Given the description of an element on the screen output the (x, y) to click on. 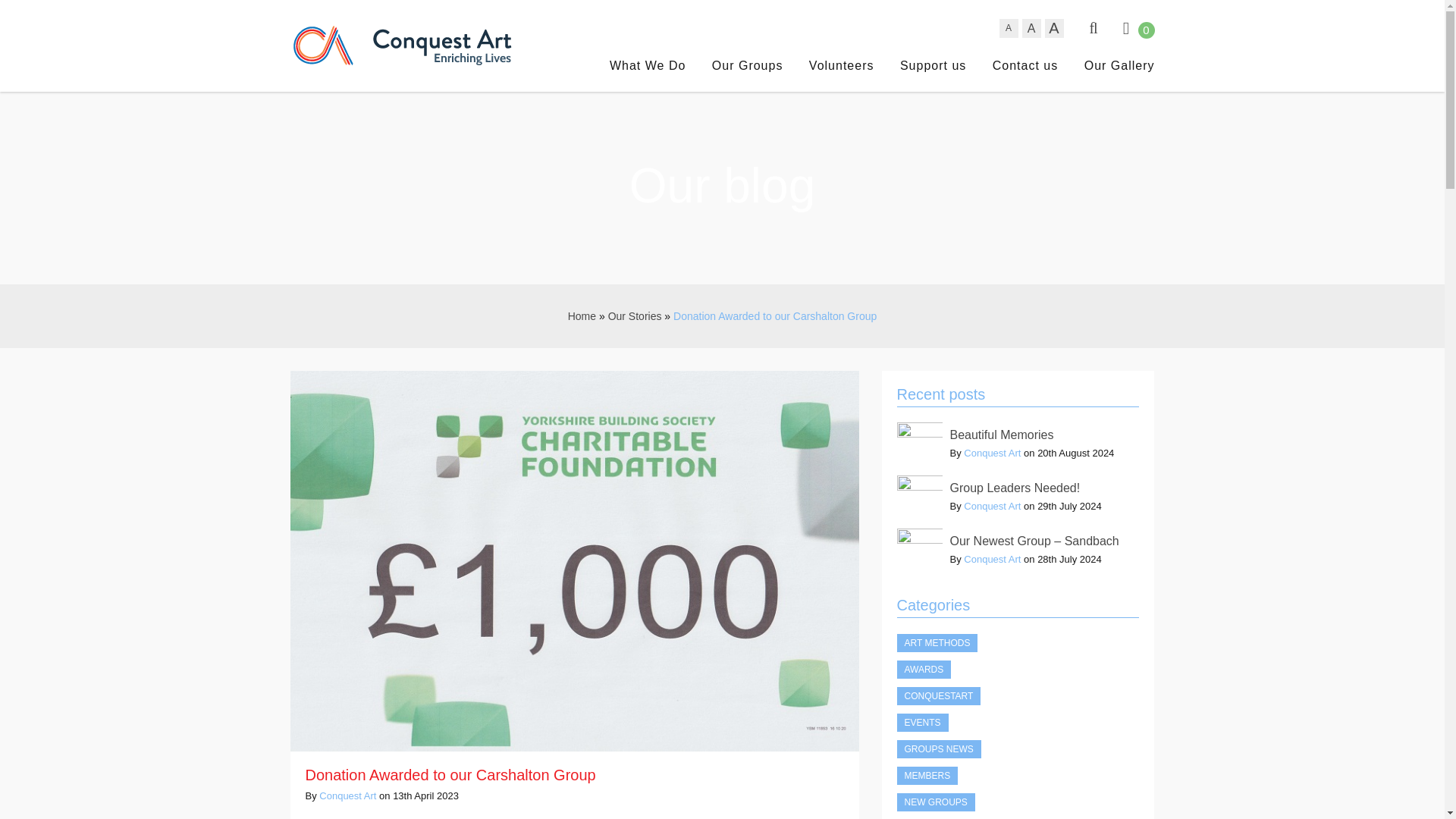
Home (581, 316)
A (1054, 27)
Support us (932, 65)
A (1031, 27)
Conquest Art (991, 559)
Group Leaders Needed! (1017, 486)
AWARDS (923, 669)
0 (1138, 28)
NEW GROUPS (935, 802)
Conquest Art (991, 505)
